Given the description of an element on the screen output the (x, y) to click on. 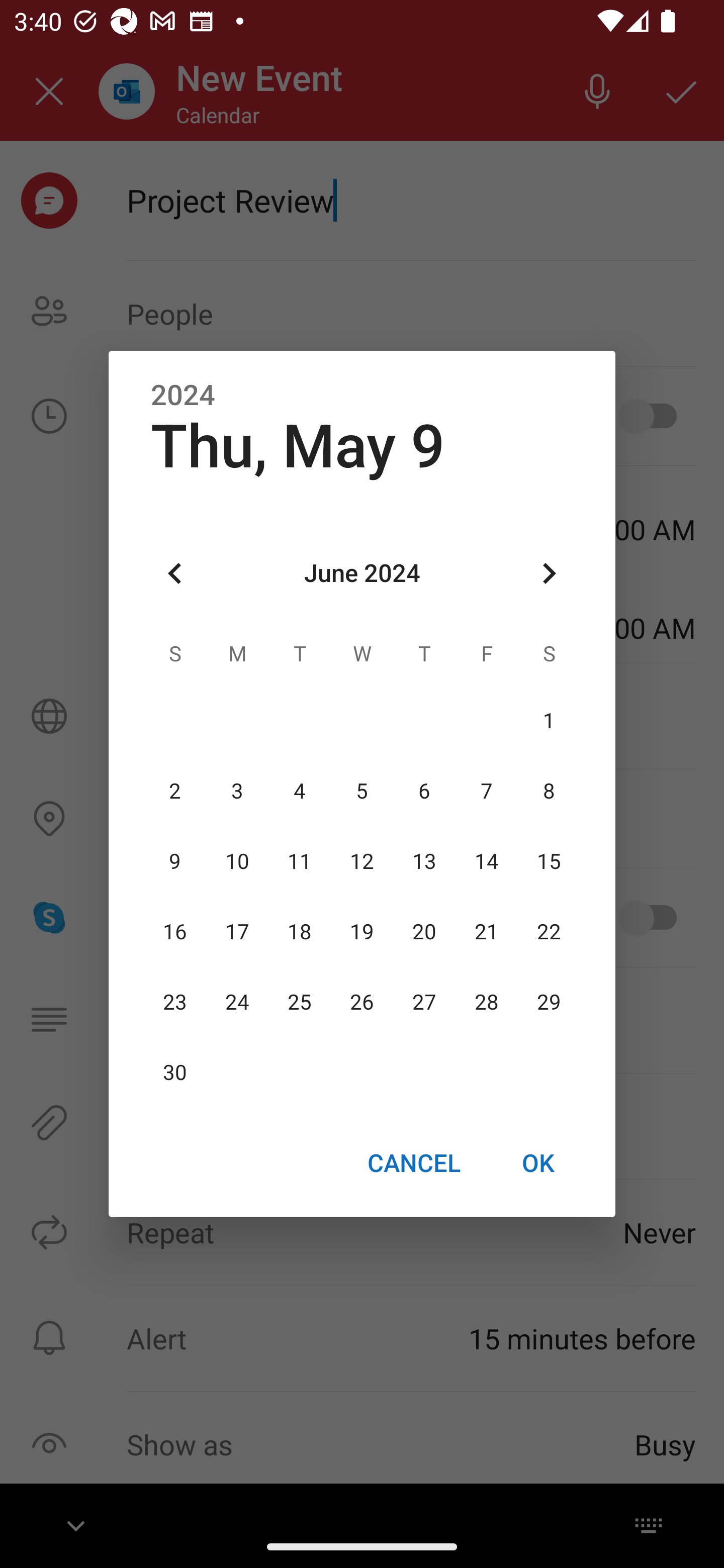
2024 (182, 395)
Thu, May 9 (297, 446)
Previous month (174, 573)
Next month (548, 573)
1 01 June 2024 (548, 720)
2 02 June 2024 (175, 790)
3 03 June 2024 (237, 790)
4 04 June 2024 (299, 790)
5 05 June 2024 (361, 790)
6 06 June 2024 (424, 790)
7 07 June 2024 (486, 790)
8 08 June 2024 (548, 790)
9 09 June 2024 (175, 861)
10 10 June 2024 (237, 861)
11 11 June 2024 (299, 861)
12 12 June 2024 (361, 861)
13 13 June 2024 (424, 861)
14 14 June 2024 (486, 861)
15 15 June 2024 (548, 861)
16 16 June 2024 (175, 931)
17 17 June 2024 (237, 931)
18 18 June 2024 (299, 931)
19 19 June 2024 (361, 931)
20 20 June 2024 (424, 931)
21 21 June 2024 (486, 931)
22 22 June 2024 (548, 931)
23 23 June 2024 (175, 1002)
24 24 June 2024 (237, 1002)
25 25 June 2024 (299, 1002)
26 26 June 2024 (361, 1002)
27 27 June 2024 (424, 1002)
28 28 June 2024 (486, 1002)
29 29 June 2024 (548, 1002)
30 30 June 2024 (175, 1073)
CANCEL (413, 1162)
OK (537, 1162)
